Given the description of an element on the screen output the (x, y) to click on. 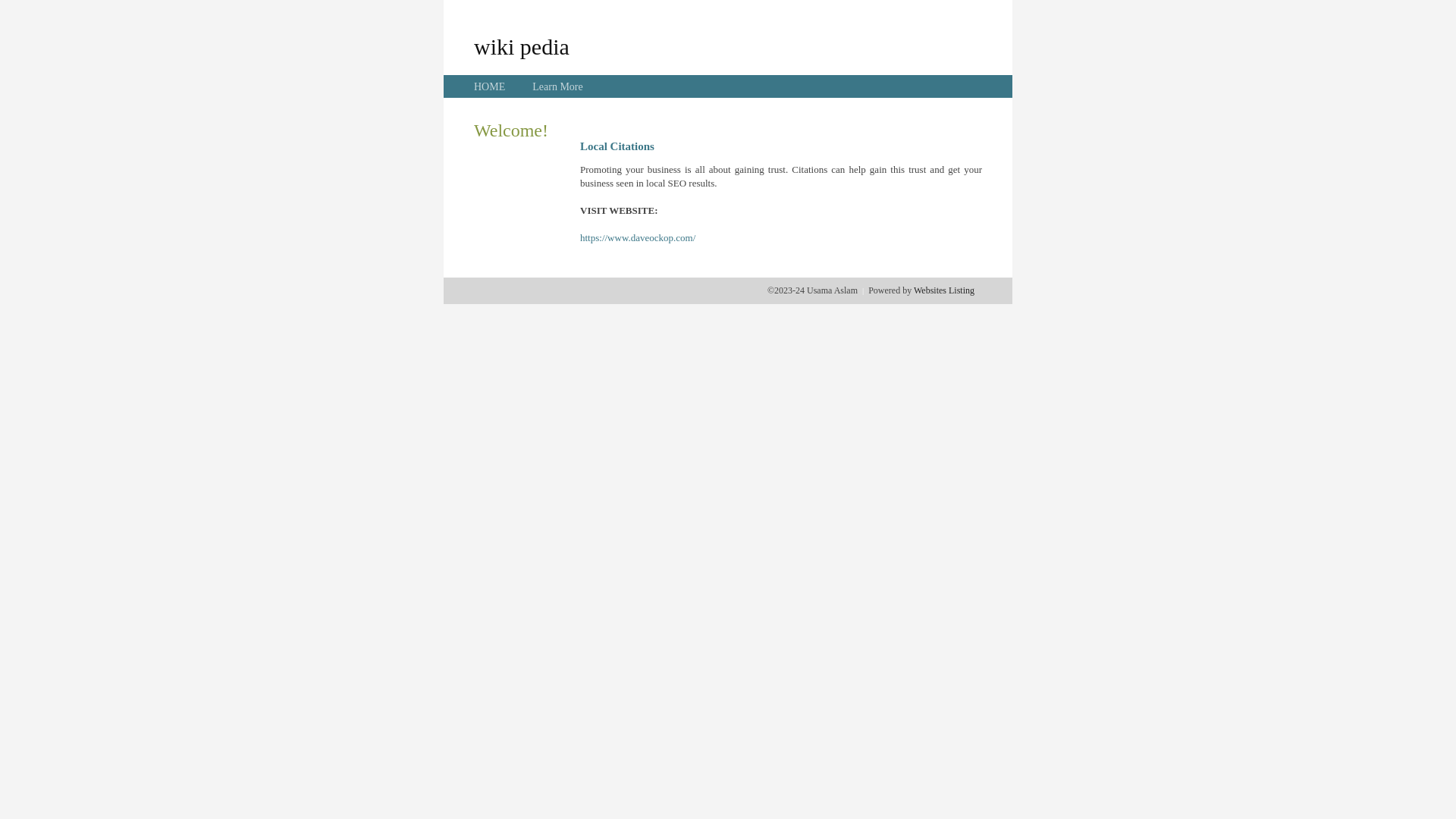
Learn More Element type: text (557, 86)
Websites Listing Element type: text (943, 290)
https://www.daveockop.com/ Element type: text (637, 237)
HOME Element type: text (489, 86)
wiki pedia Element type: text (521, 46)
